Given the description of an element on the screen output the (x, y) to click on. 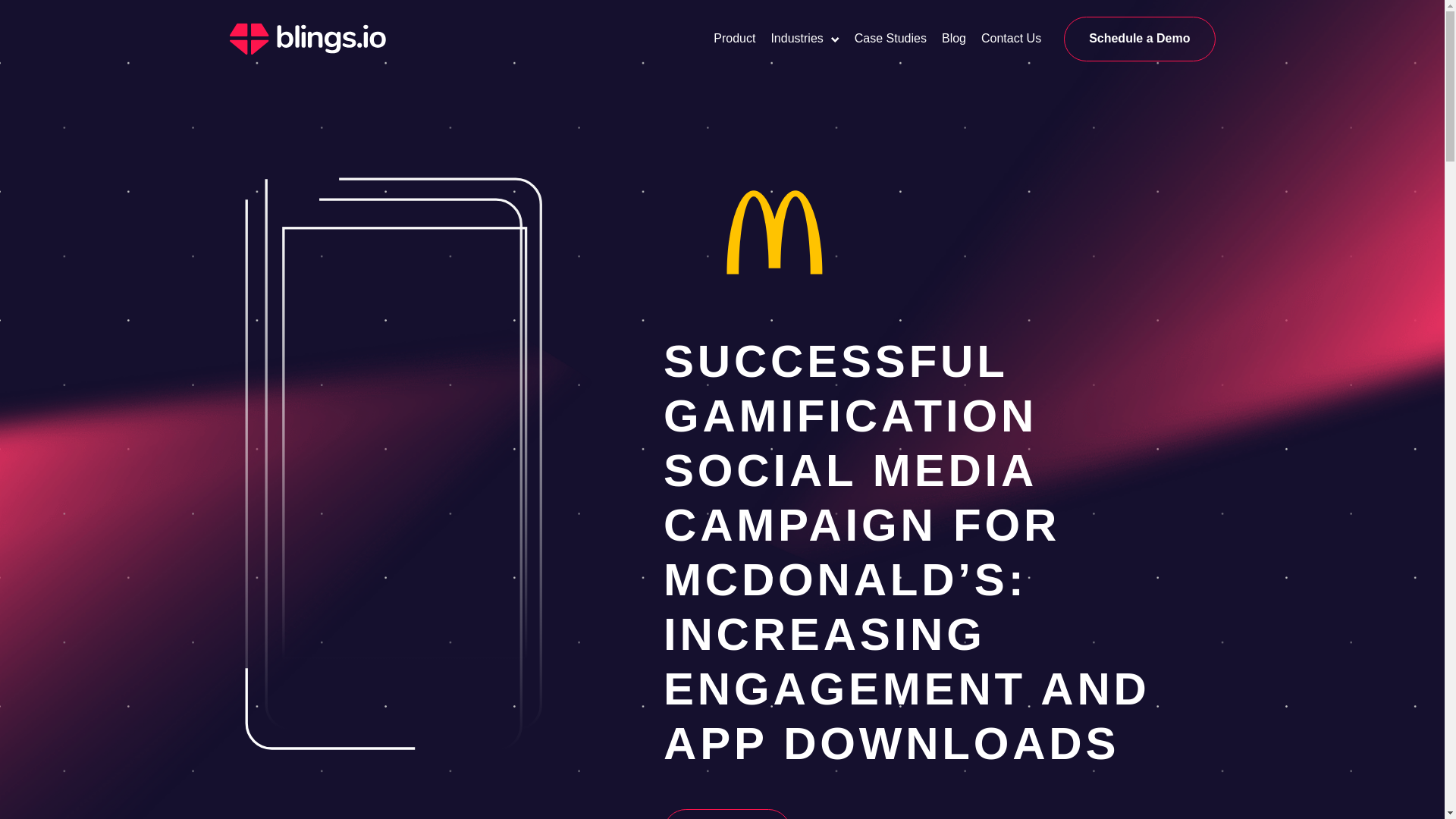
Industries (796, 38)
Product (734, 38)
Case Studies (890, 38)
Contact Us (1011, 38)
Blog (954, 38)
